Given the description of an element on the screen output the (x, y) to click on. 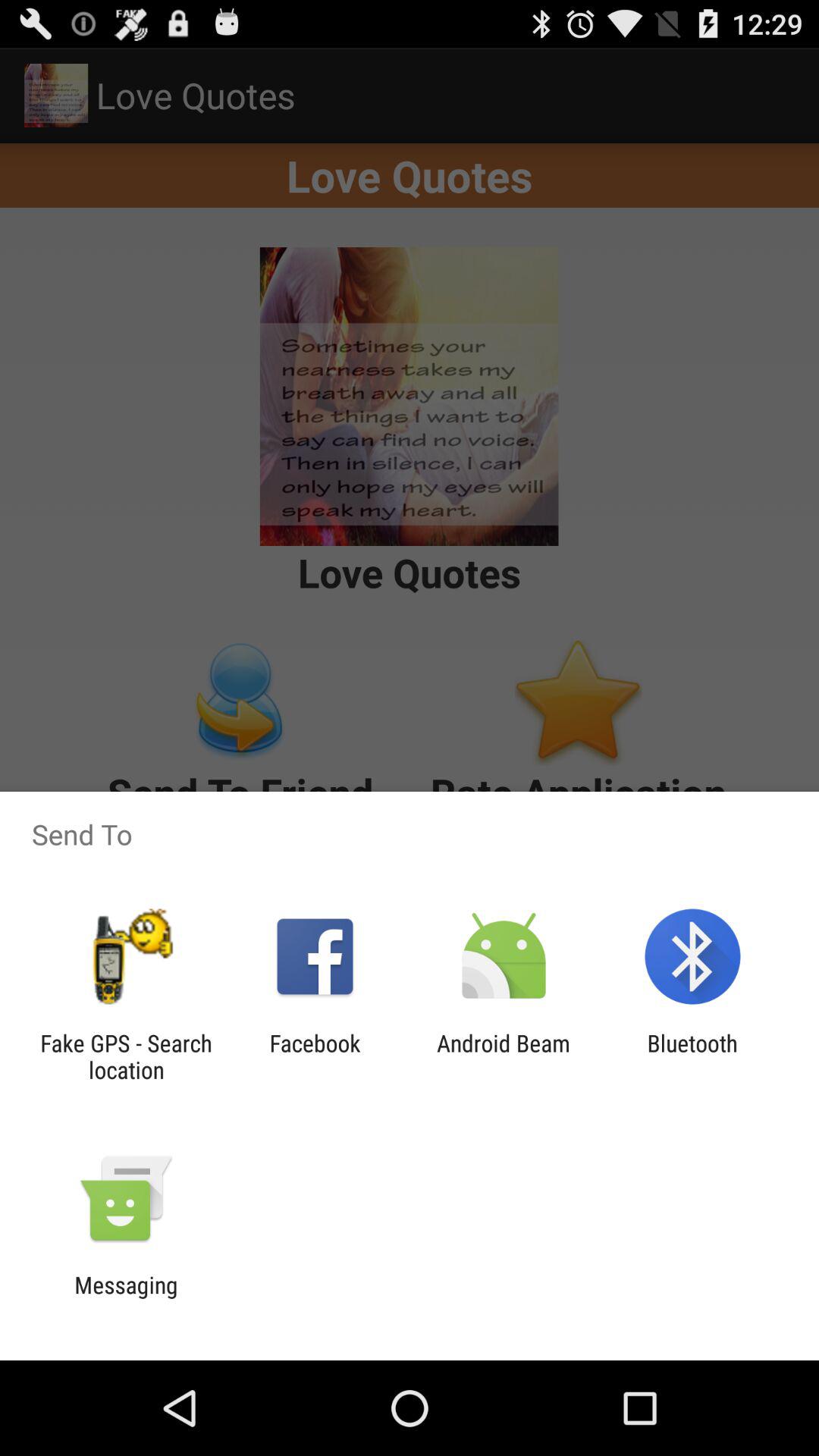
launch bluetooth (692, 1056)
